Given the description of an element on the screen output the (x, y) to click on. 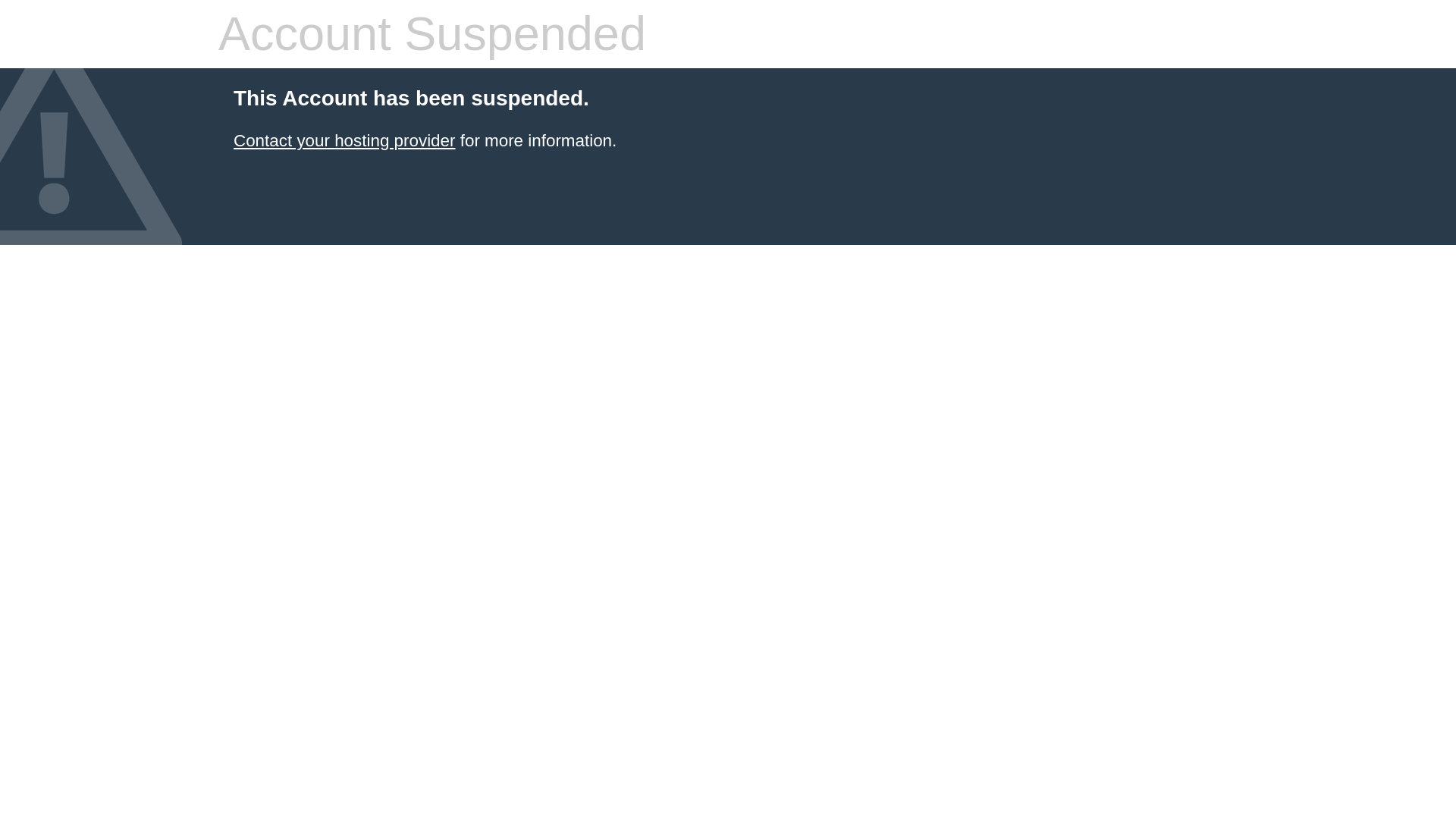
Contact your hosting provider (343, 140)
